Given the description of an element on the screen output the (x, y) to click on. 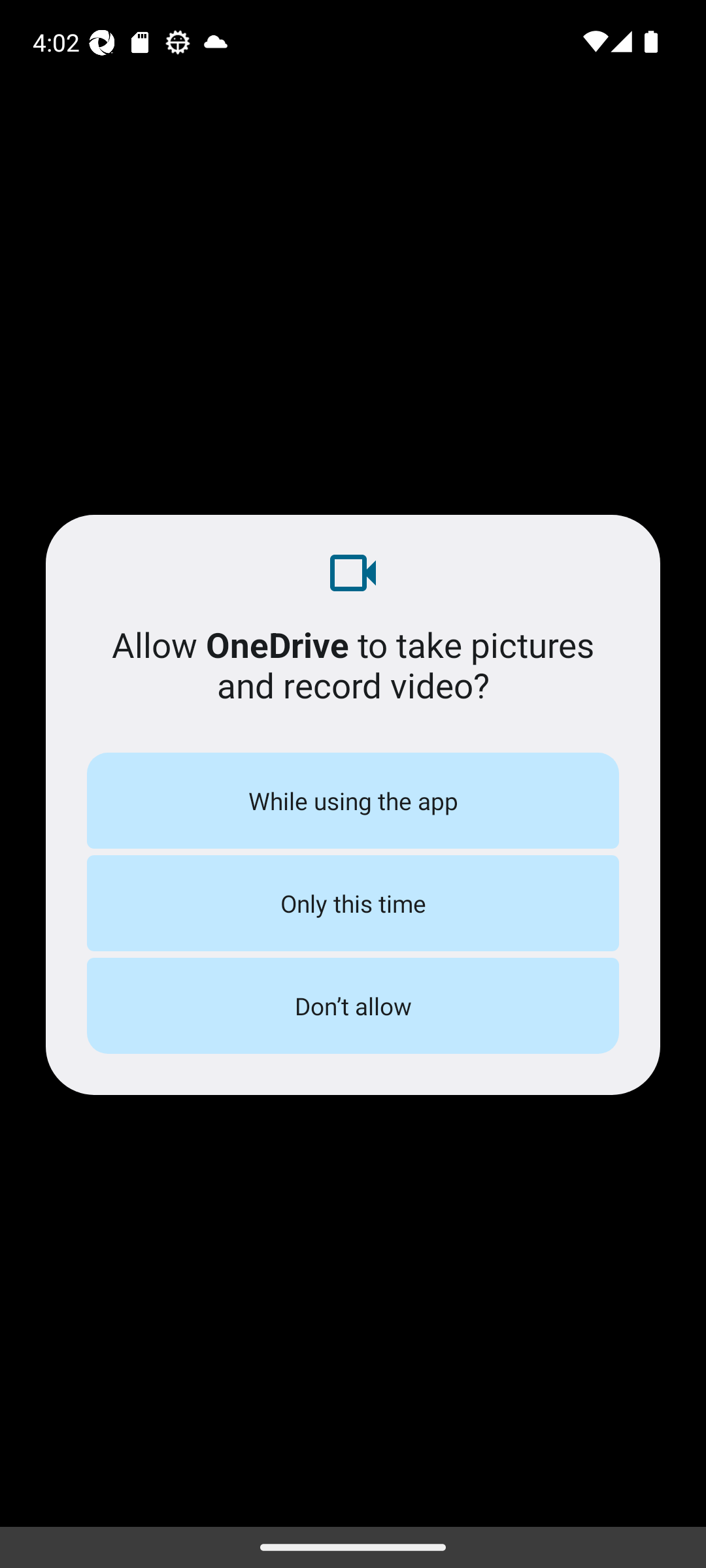
While using the app (352, 800)
Only this time (352, 902)
Don’t allow (352, 1005)
